Given the description of an element on the screen output the (x, y) to click on. 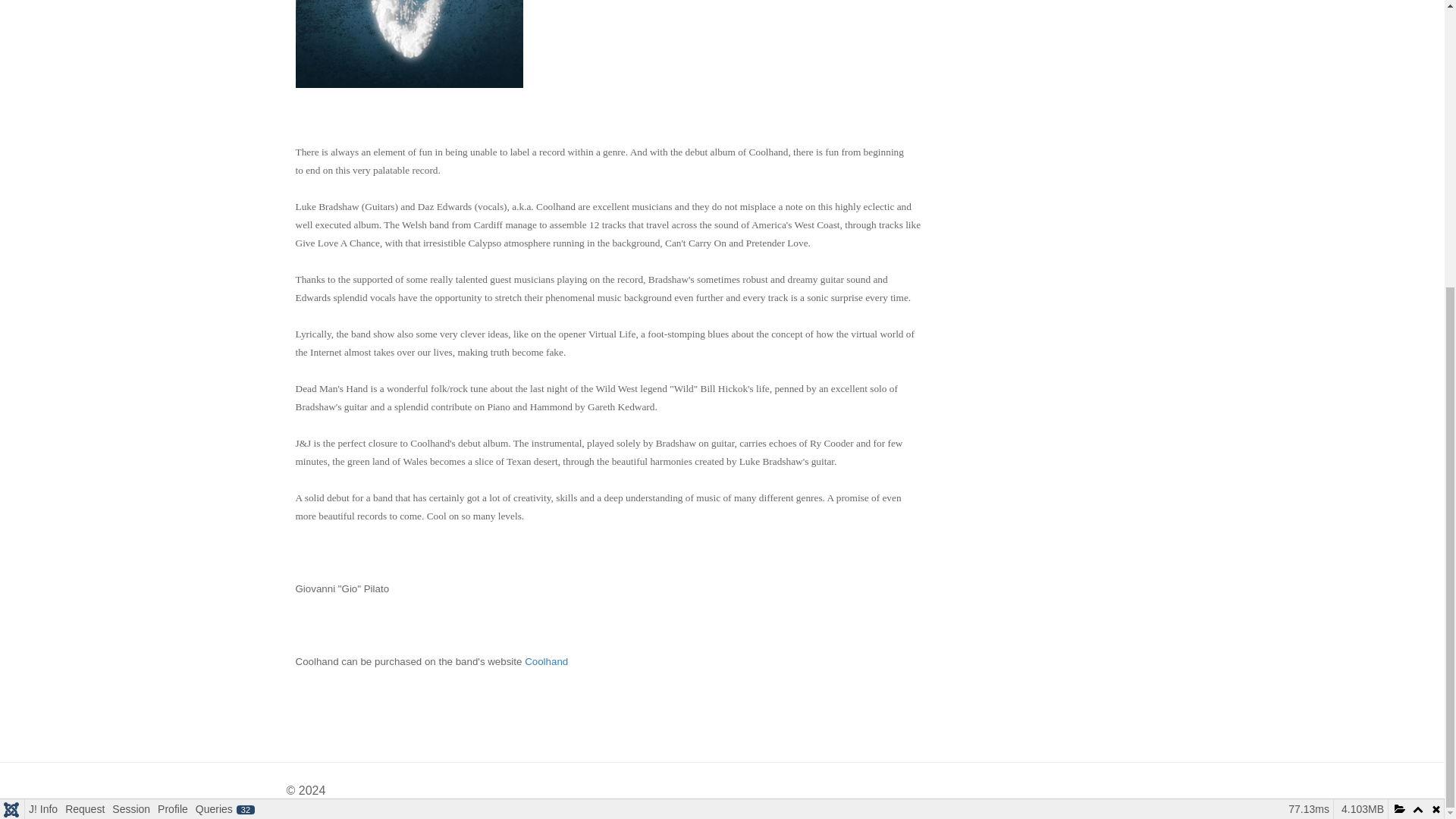
J! Info (42, 374)
Session (130, 374)
Request (84, 374)
Coolhand (545, 661)
Queries32 (225, 374)
Profile (173, 374)
